Given the description of an element on the screen output the (x, y) to click on. 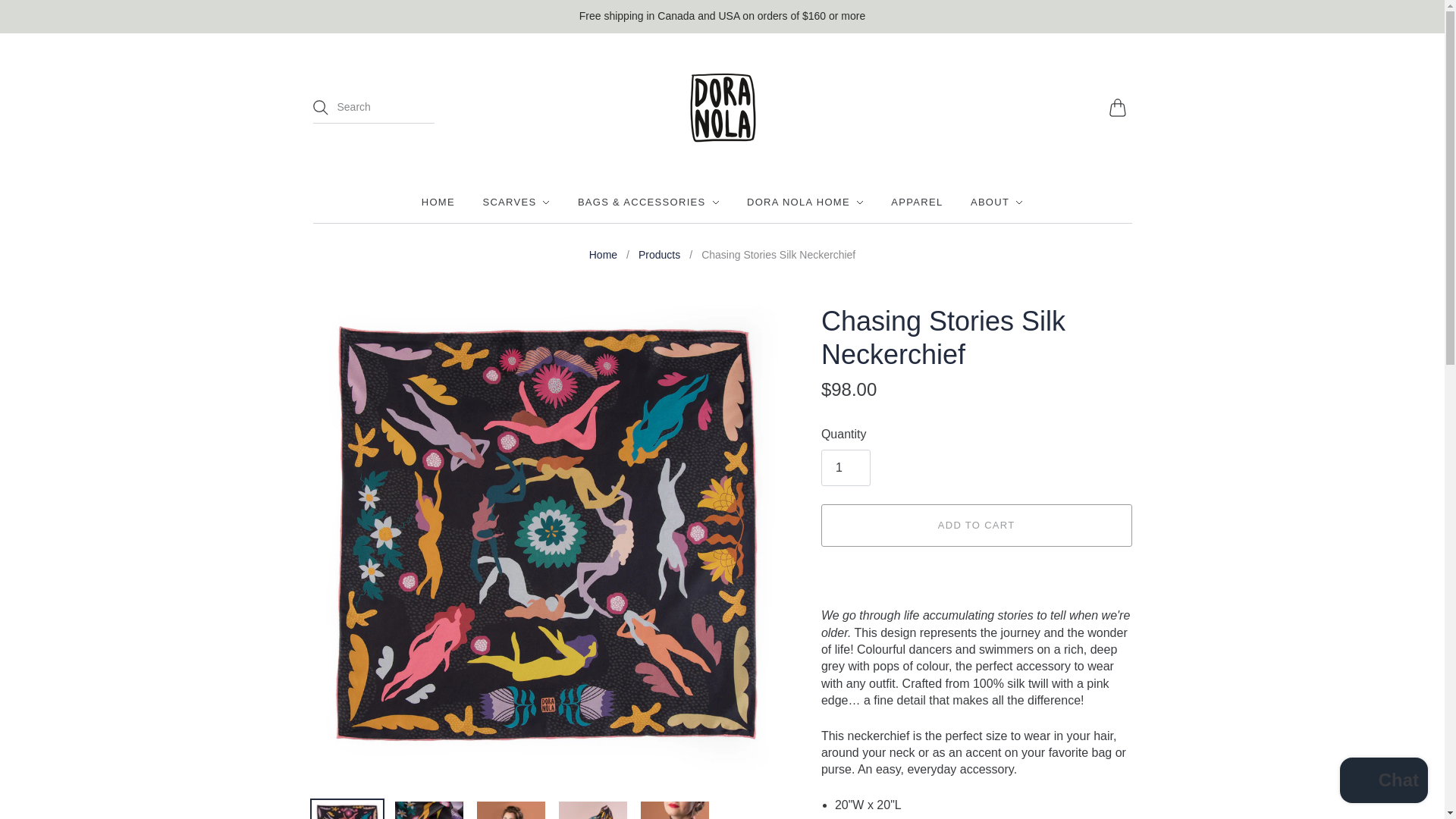
HOME (438, 202)
ABOUT (997, 202)
DORA NOLA HOME (804, 202)
1 (845, 467)
SCARVES (515, 202)
Shopify online store chat (1383, 781)
Cart (1119, 107)
APPAREL (916, 202)
